Given the description of an element on the screen output the (x, y) to click on. 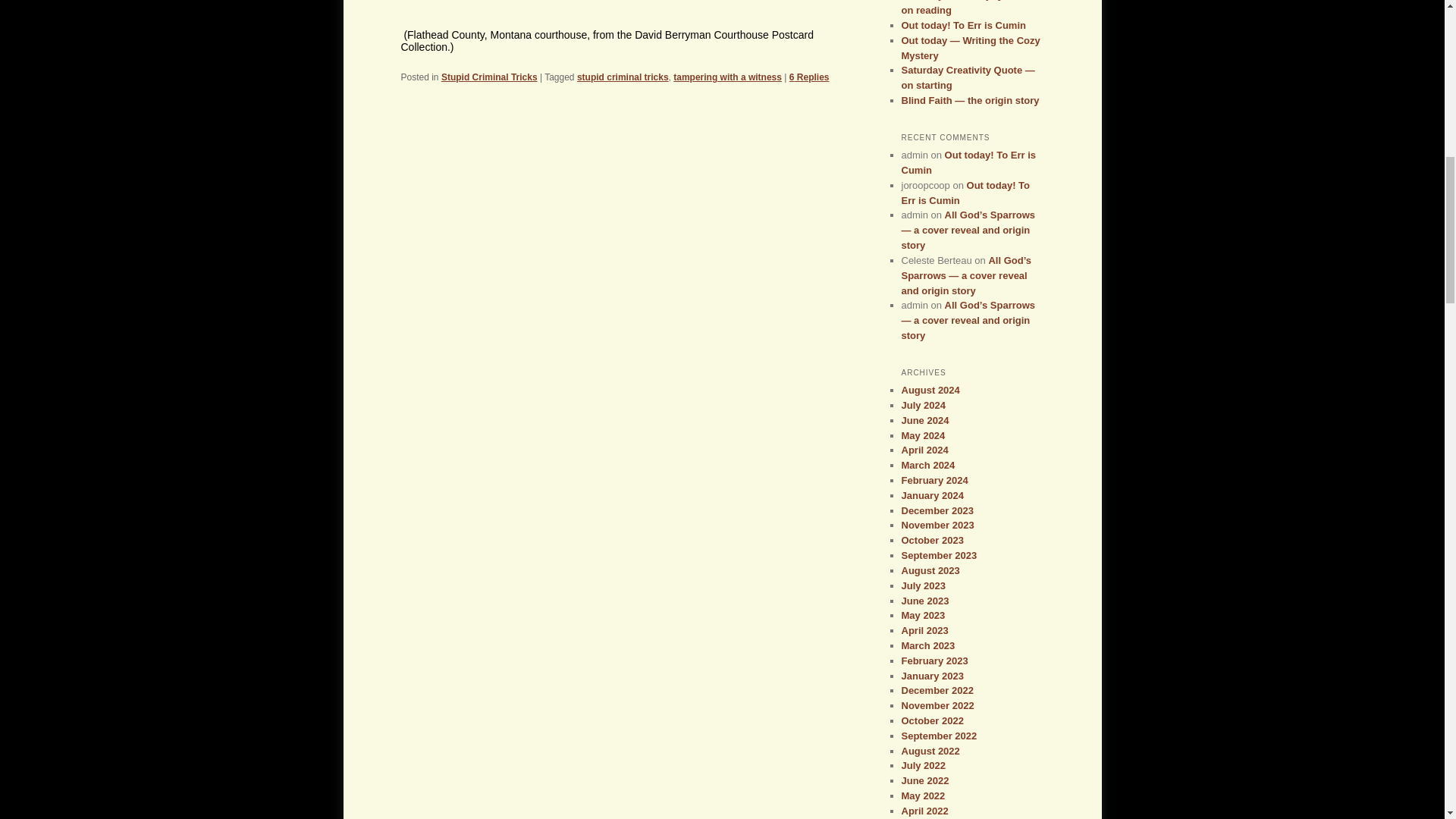
6 Replies (809, 77)
flathead-kalispell-courthouse (622, 6)
Stupid Criminal Tricks (489, 77)
stupid criminal tricks (622, 77)
tampering with a witness (726, 77)
